Given the description of an element on the screen output the (x, y) to click on. 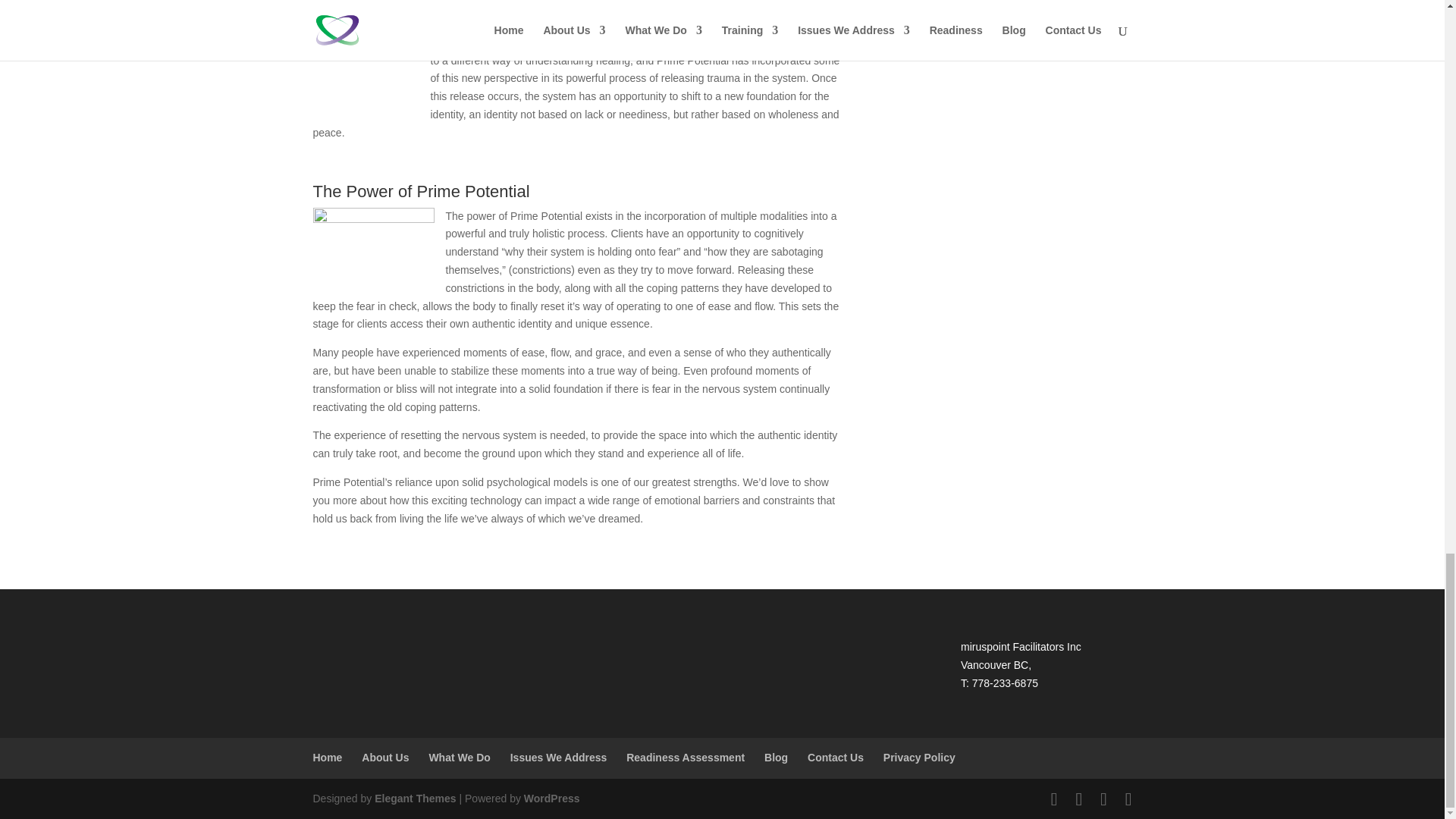
Premium WordPress Themes (414, 798)
